Given the description of an element on the screen output the (x, y) to click on. 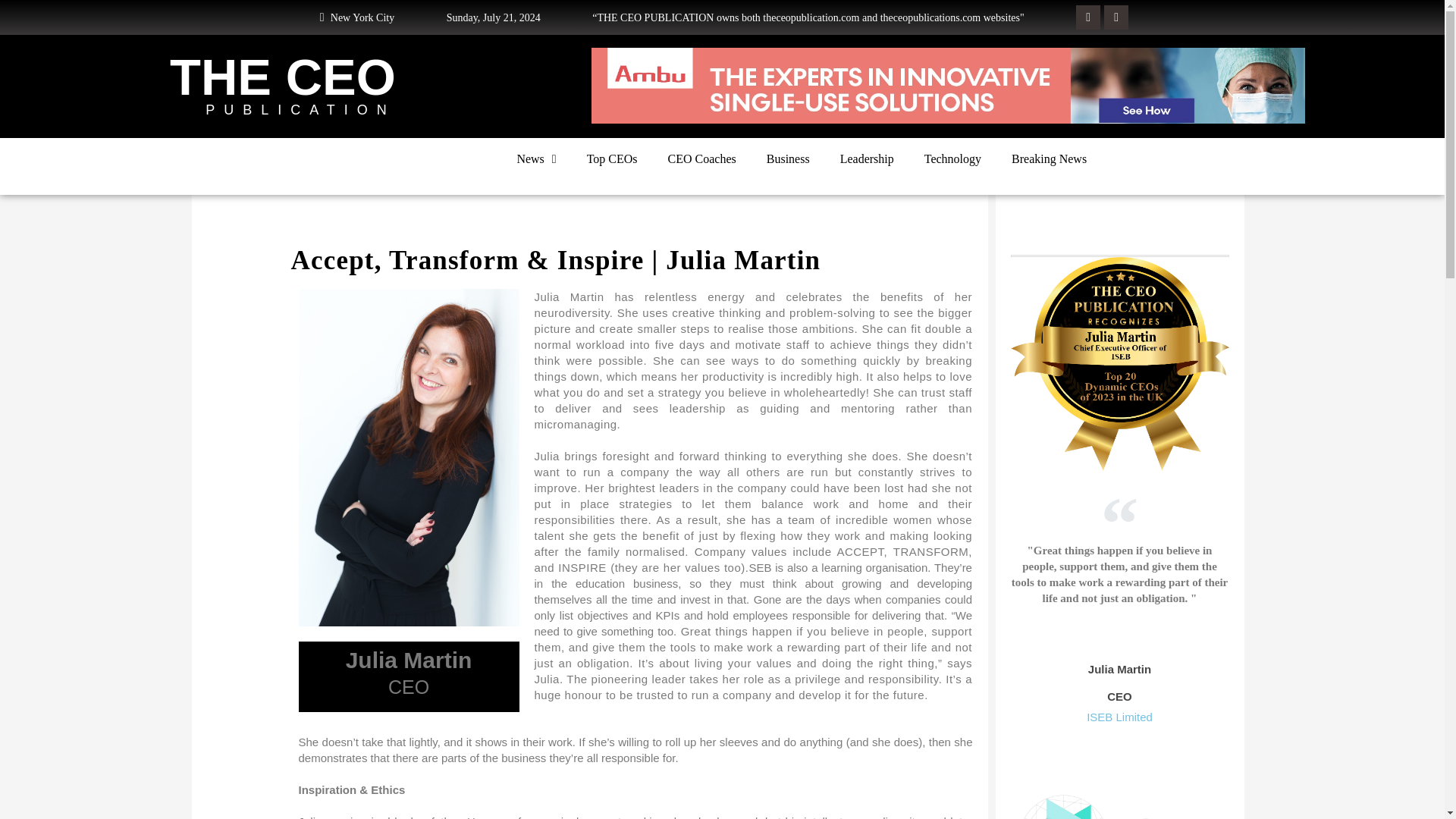
Leadership (866, 158)
Top CEOs (612, 158)
THE CEO (283, 76)
News (535, 158)
ISEB Limited (1119, 716)
CEO Coaches (701, 158)
Breaking News (1048, 158)
Business (788, 158)
Technology (951, 158)
